Given the description of an element on the screen output the (x, y) to click on. 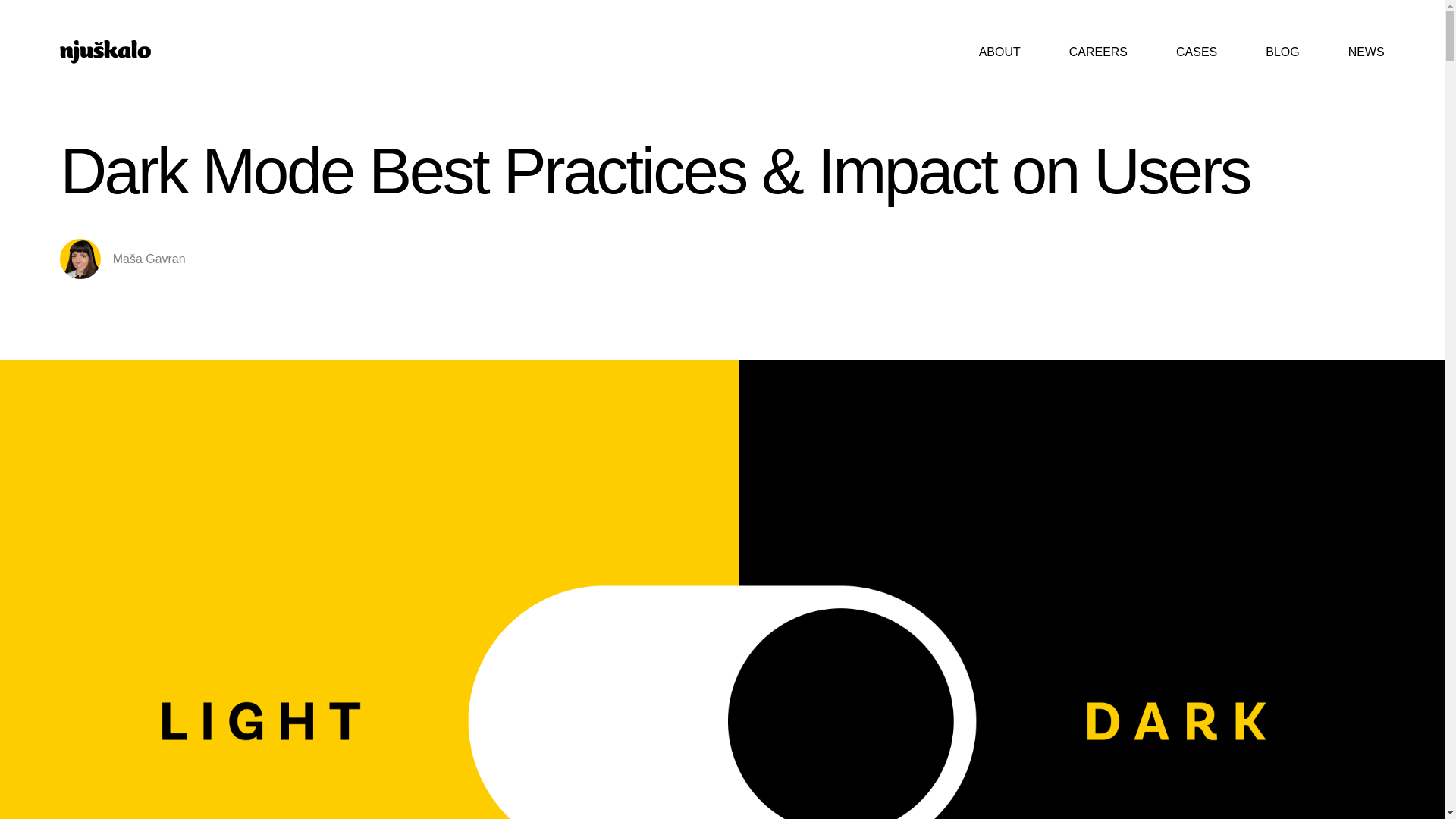
BLOG (1282, 51)
ABOUT (1000, 51)
CAREERS (1098, 51)
CASES (1196, 51)
NEWS (1353, 51)
